Given the description of an element on the screen output the (x, y) to click on. 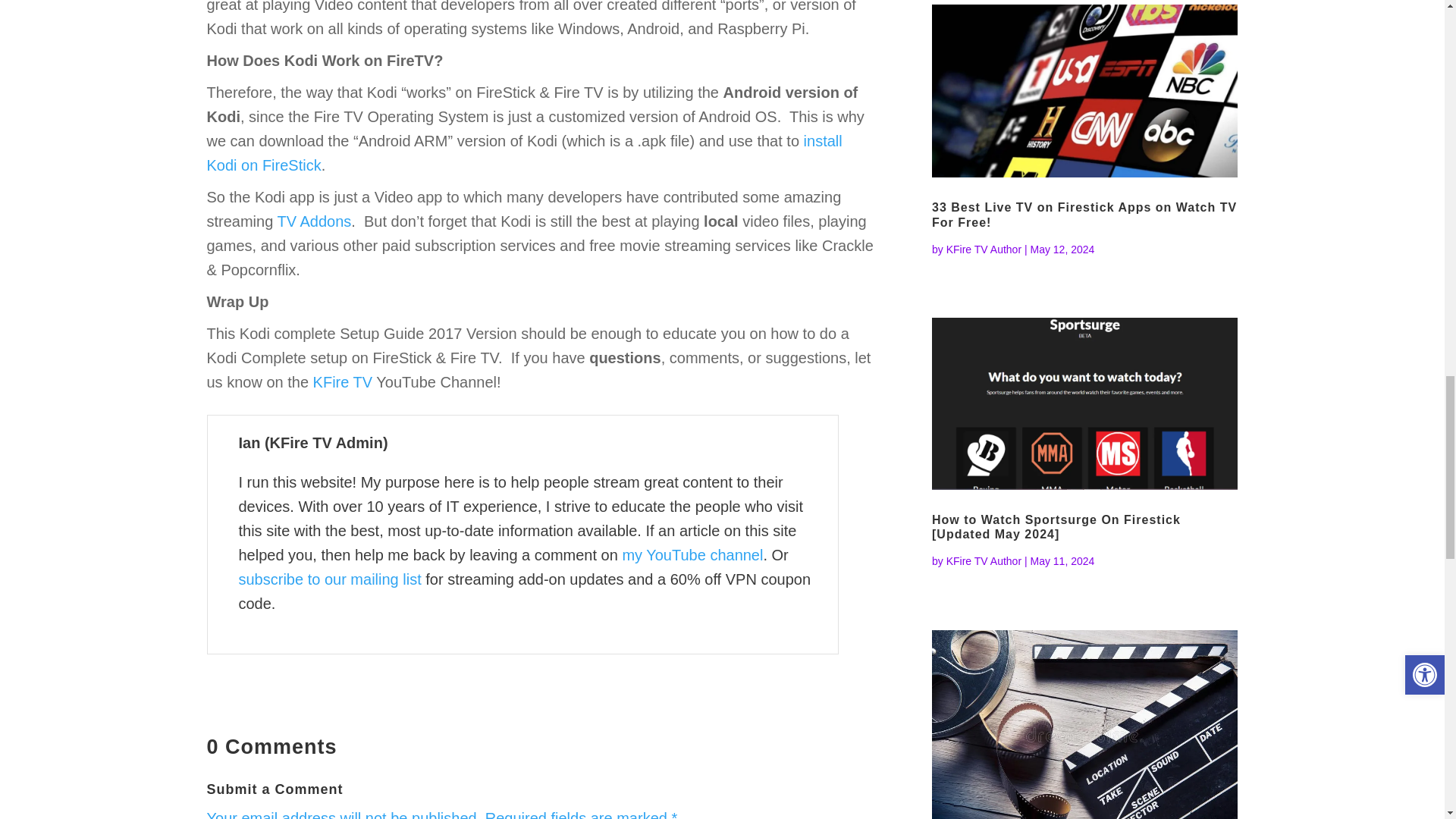
IP Vanish Generic (274, 789)
IP Vanish Generic (441, 814)
IP Vanish Generic (271, 746)
